Given the description of an element on the screen output the (x, y) to click on. 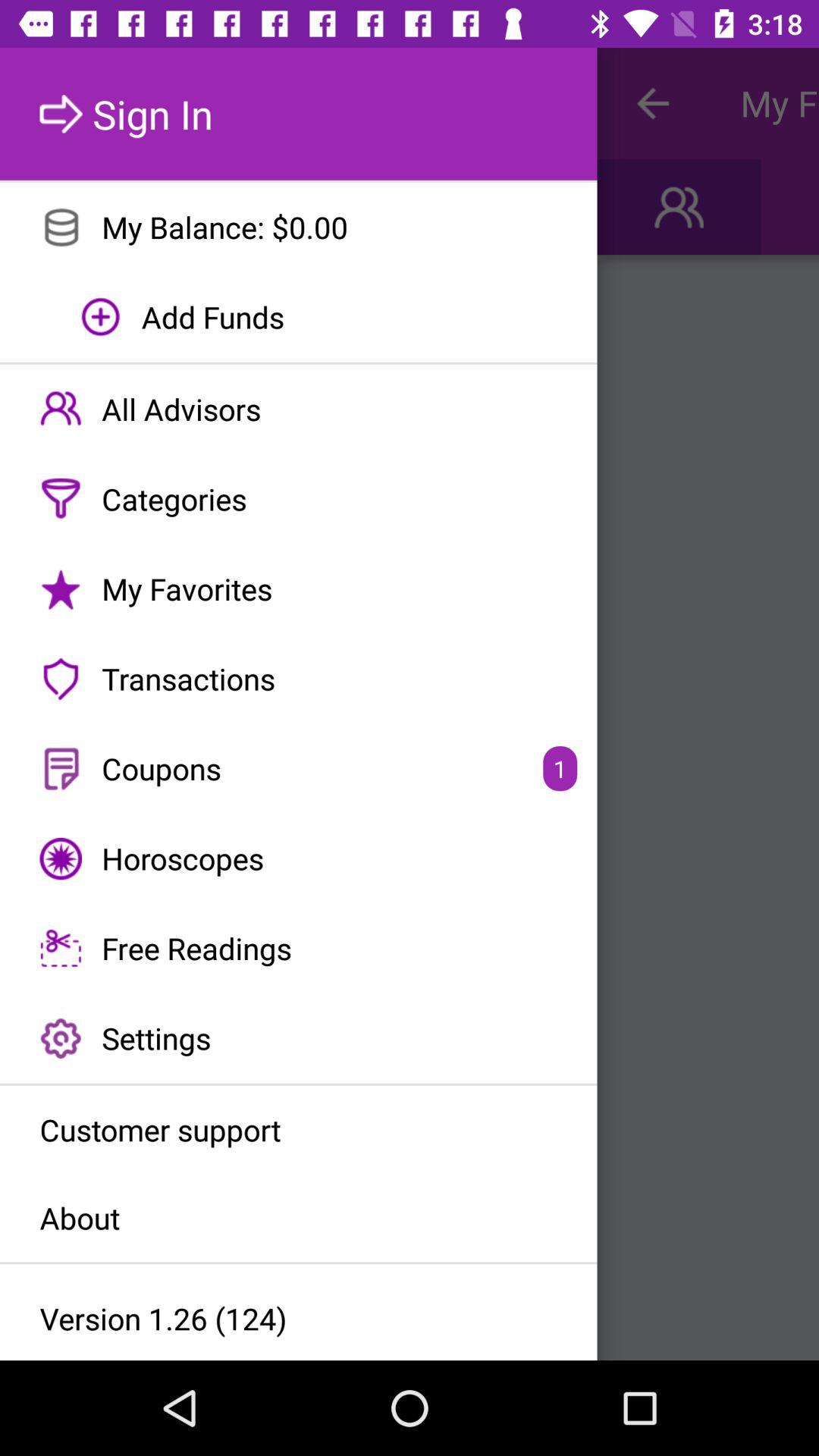
turn off the icon below my balance 0 icon (298, 317)
